Given the description of an element on the screen output the (x, y) to click on. 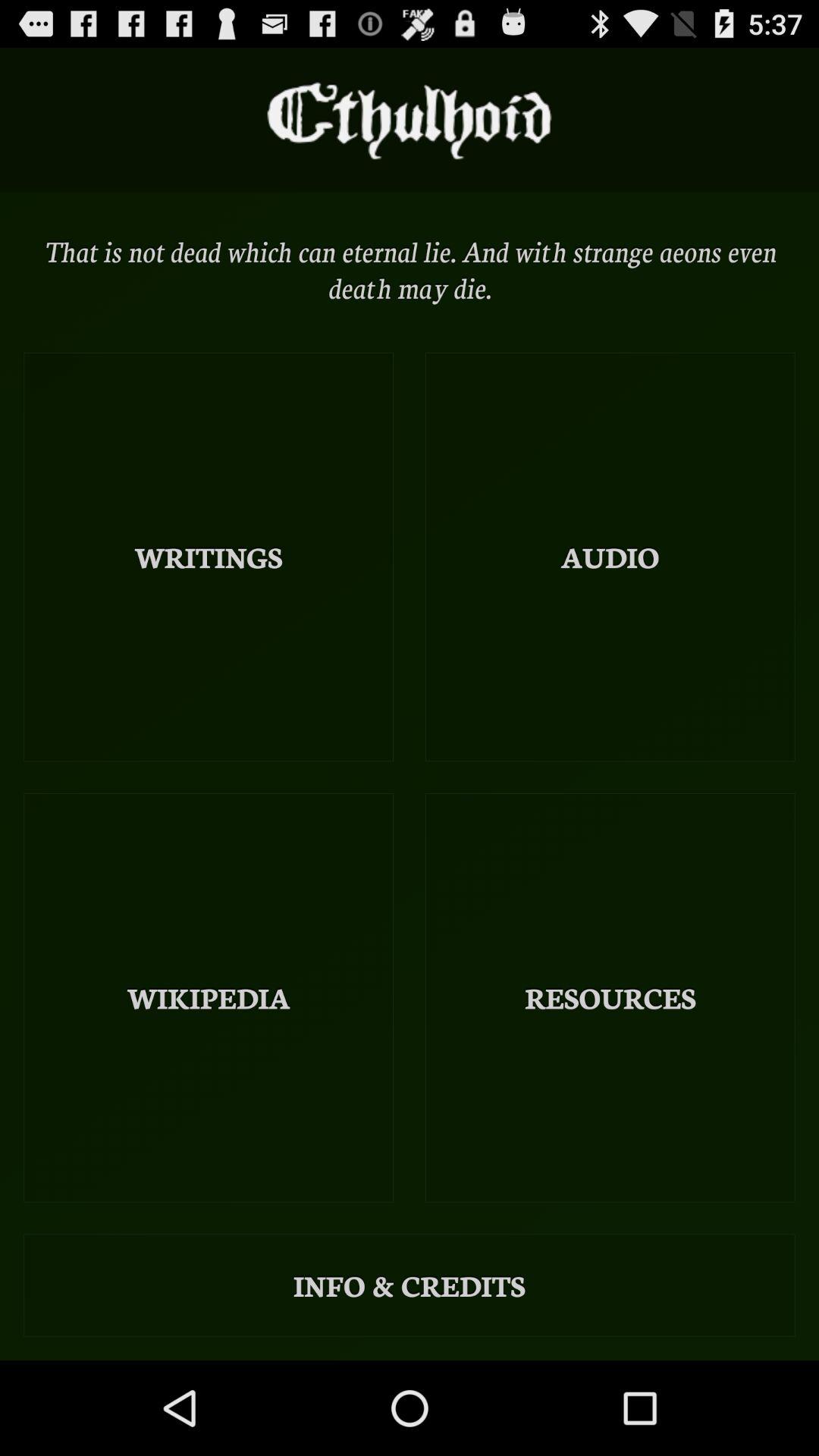
launch item at the bottom right corner (610, 997)
